Given the description of an element on the screen output the (x, y) to click on. 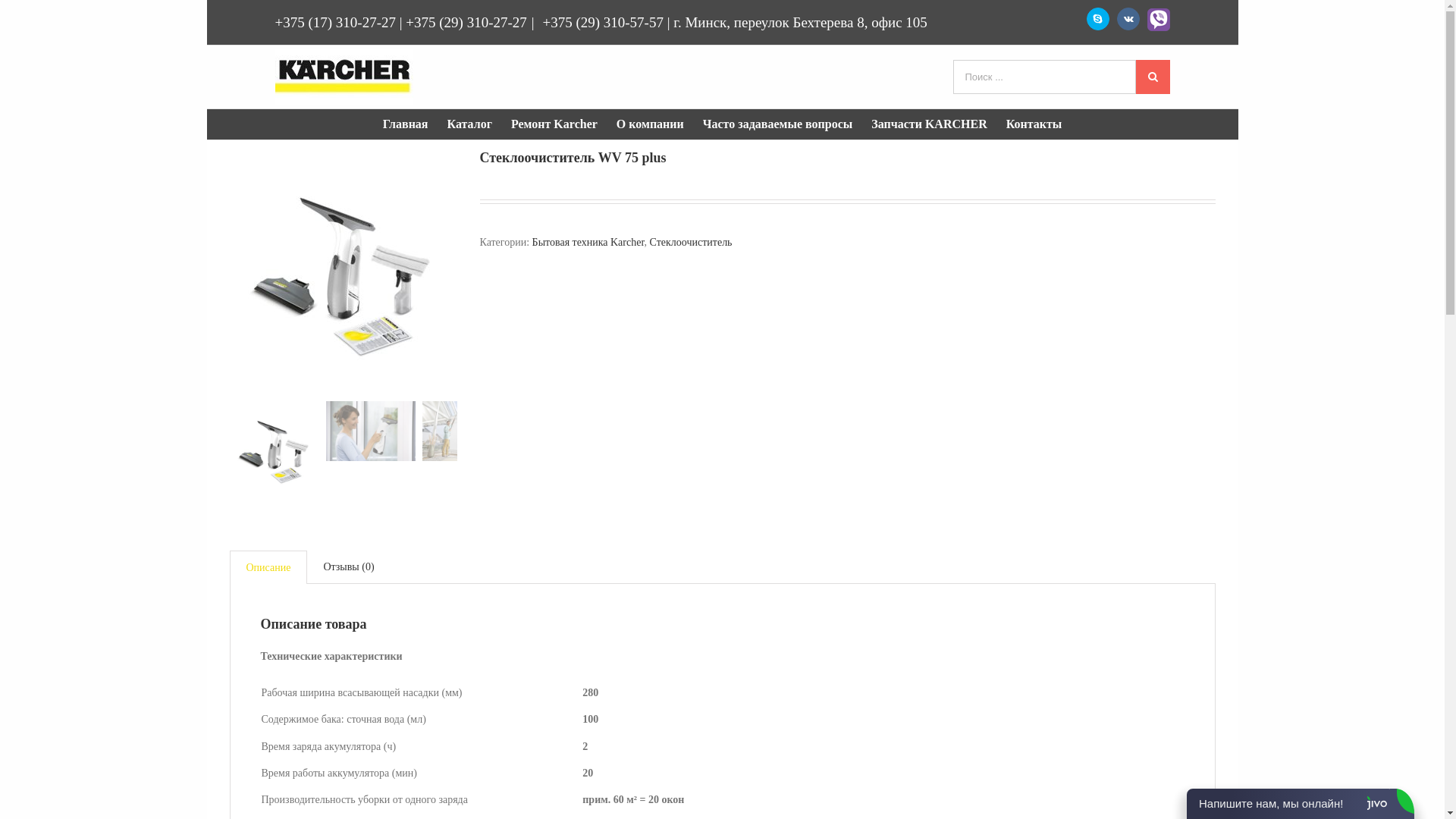
Viber Element type: text (1157, 19)
Skype Element type: text (1096, 18)
Vk Element type: text (1127, 18)
CABzlebHcmSpUHuEAnnbBiTH4GbdDPlX8I2IwNRiv5FJT Element type: hover (342, 271)
CABzlebHcmSpUHuEAnnbBiTH4GbdDPlX8I2IwNRiv5FJT Element type: hover (273, 449)
